Given the description of an element on the screen output the (x, y) to click on. 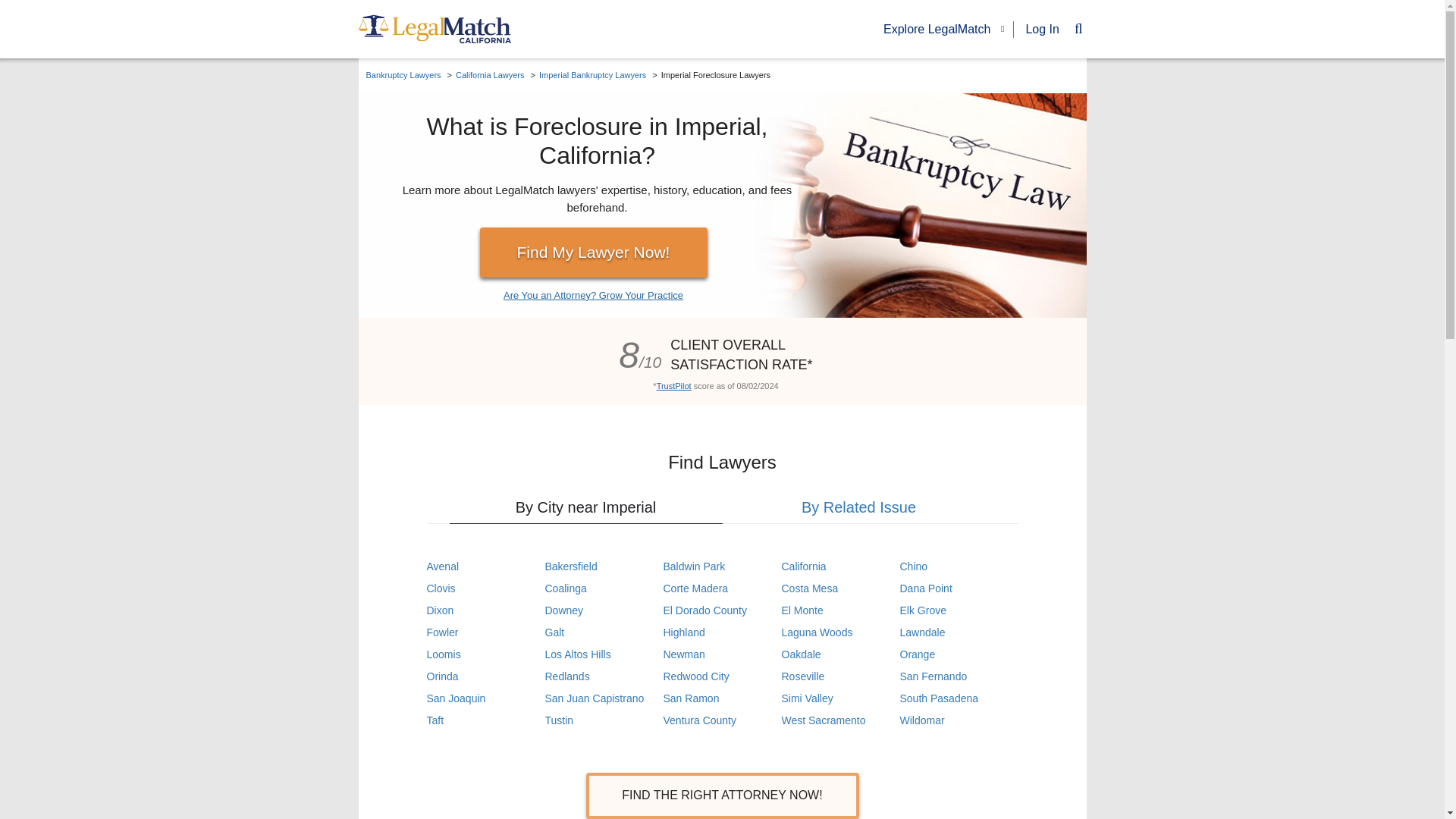
Log In (1041, 29)
